Given the description of an element on the screen output the (x, y) to click on. 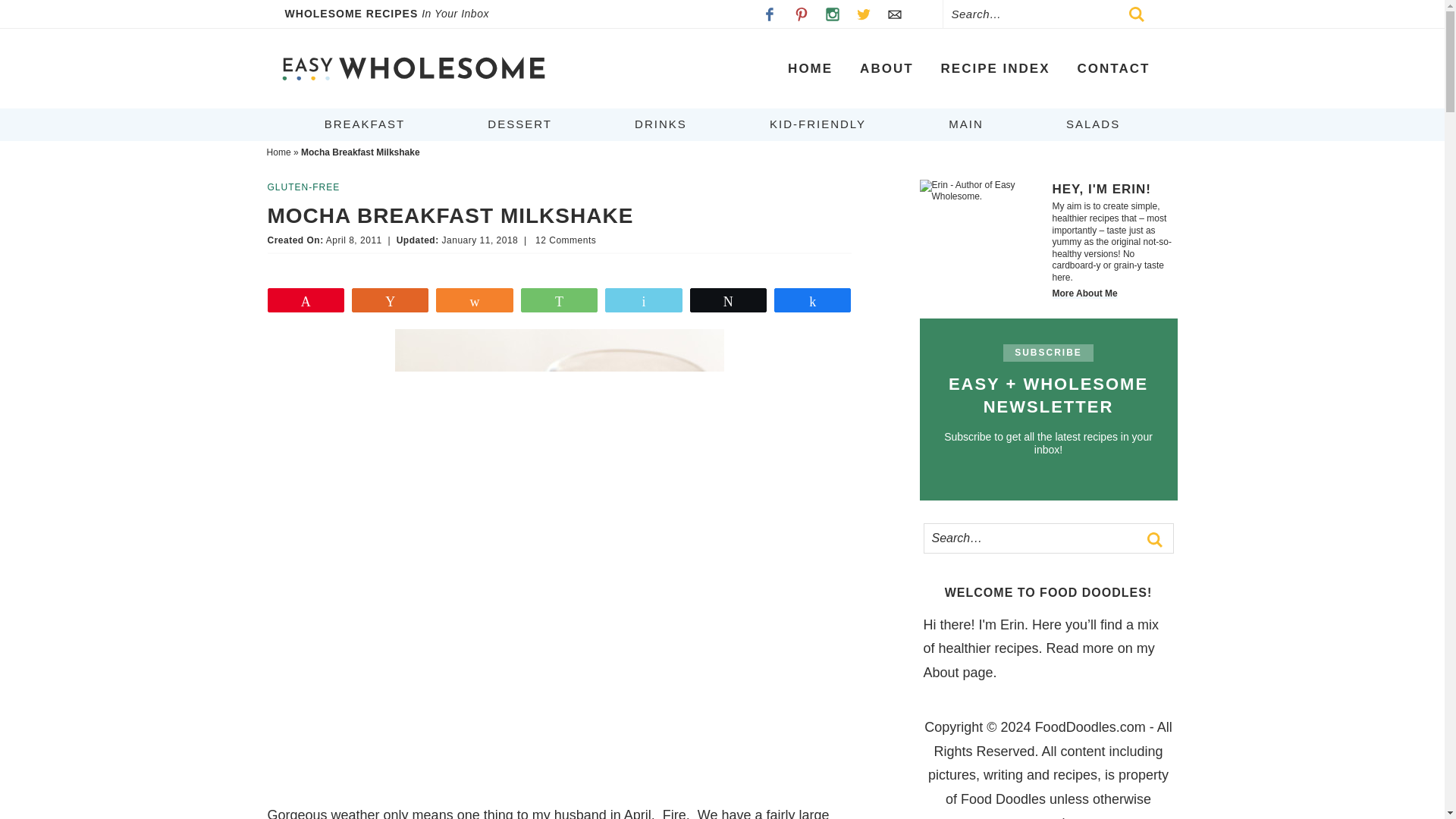
EASY WHOLESOME (413, 68)
Search for (1047, 546)
SALADS (1093, 124)
MAIN (965, 124)
Home (278, 152)
HOME (809, 68)
DESSERT (519, 124)
CONTACT (1113, 68)
ABOUT (885, 68)
